Given the description of an element on the screen output the (x, y) to click on. 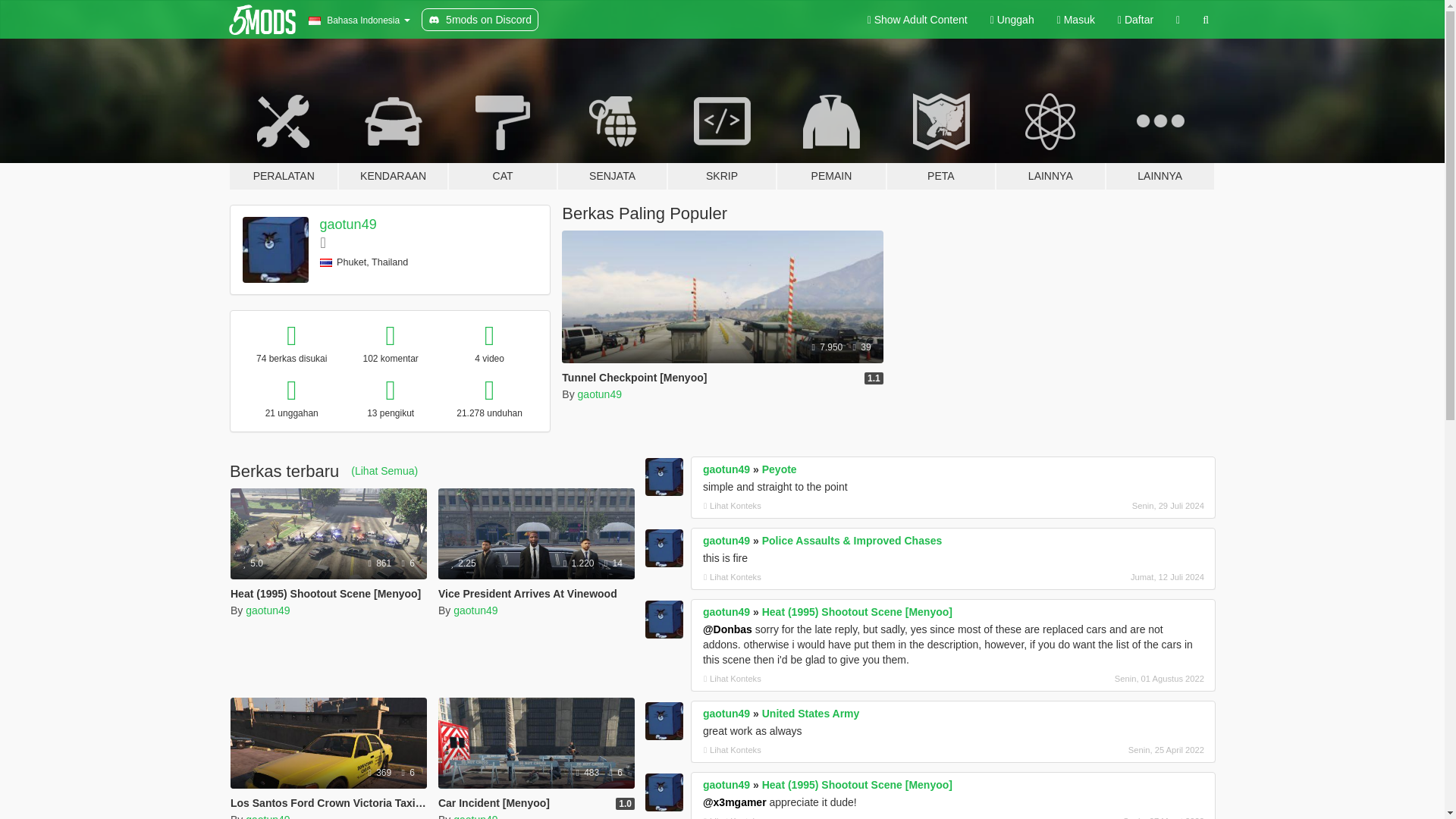
5.0 star rating (253, 562)
Light mode (917, 19)
gaotun49 (599, 394)
Masuk (1075, 19)
gaotun49 (267, 610)
Thailand (325, 262)
Vice President Arrives At Vinewood (536, 553)
Daftar (1135, 19)
5mods on Discord (480, 19)
6 Suka (407, 562)
